Given the description of an element on the screen output the (x, y) to click on. 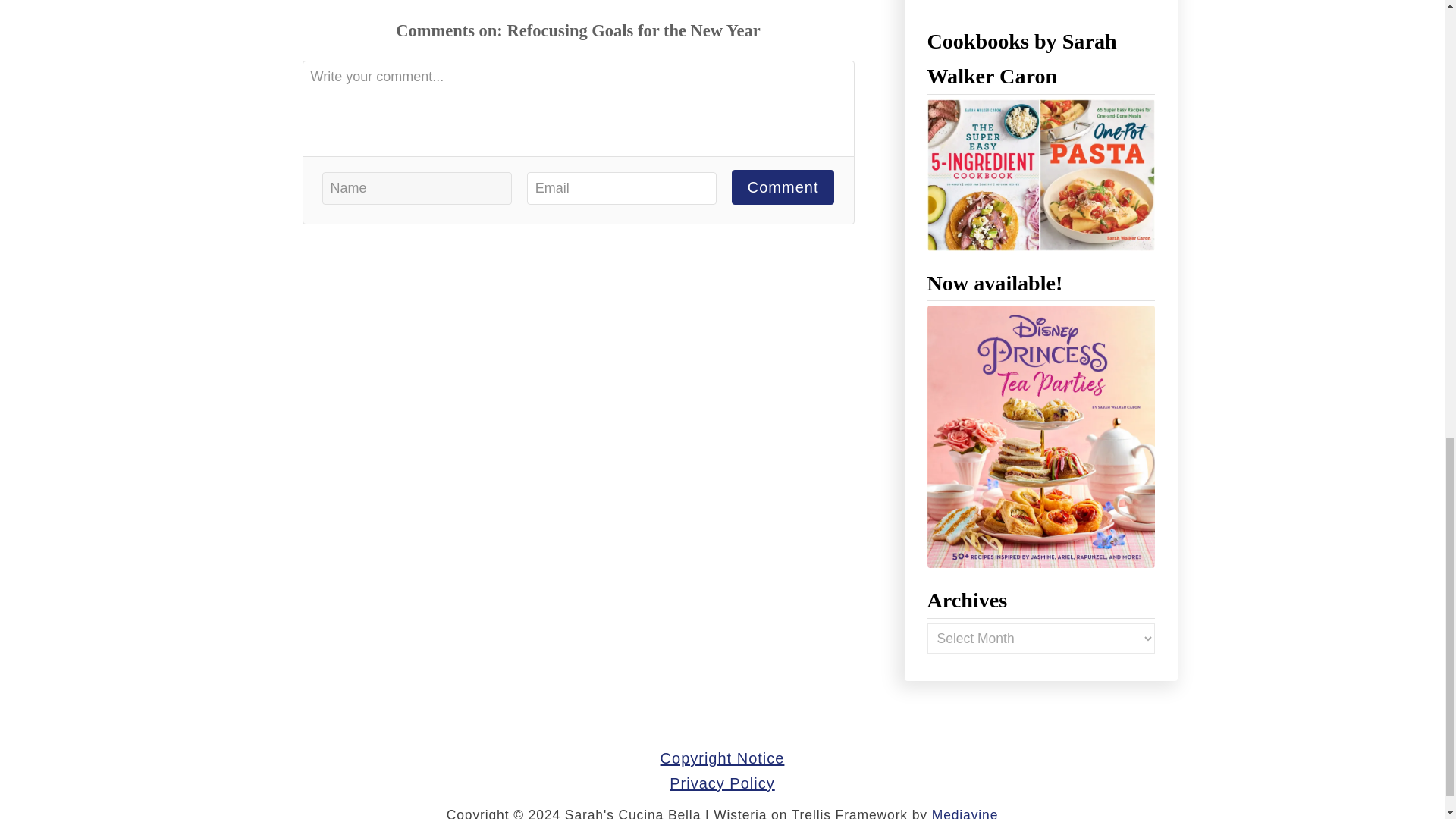
Privacy Policy (721, 782)
Copyright Notice (722, 758)
Comment (783, 187)
